Given the description of an element on the screen output the (x, y) to click on. 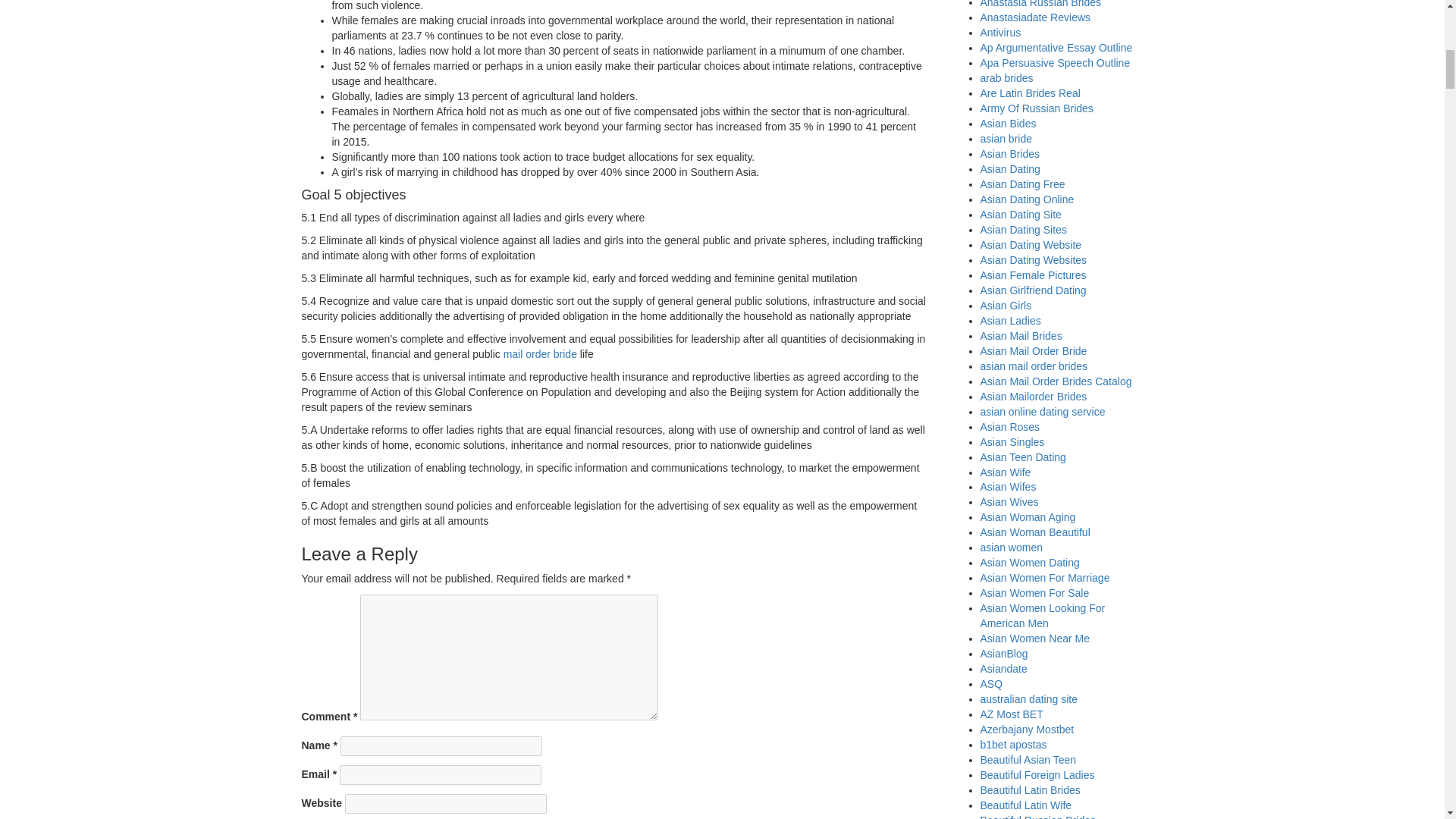
mail order bride (539, 354)
